Given the description of an element on the screen output the (x, y) to click on. 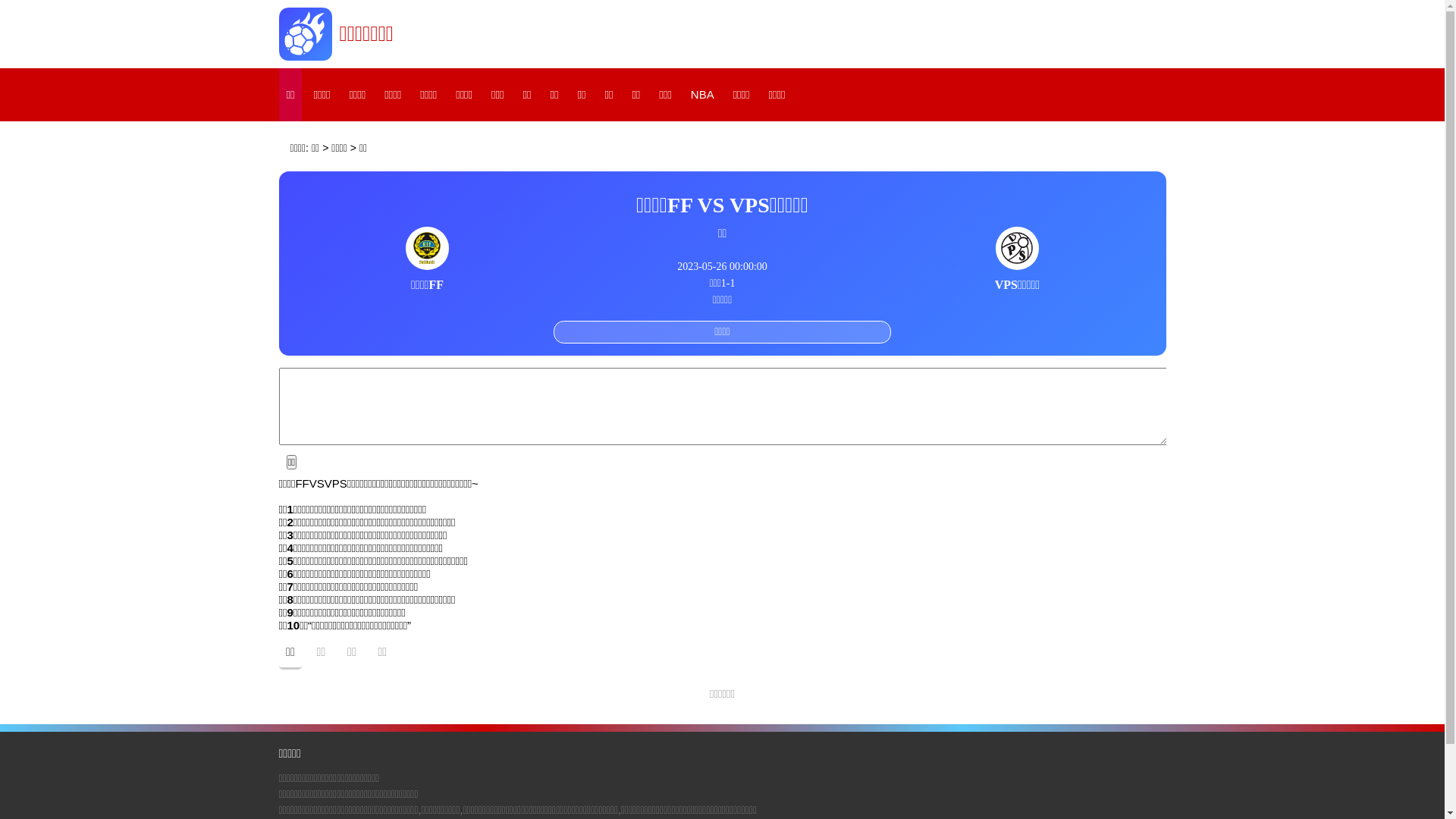
NBA Element type: text (702, 94)
